Given the description of an element on the screen output the (x, y) to click on. 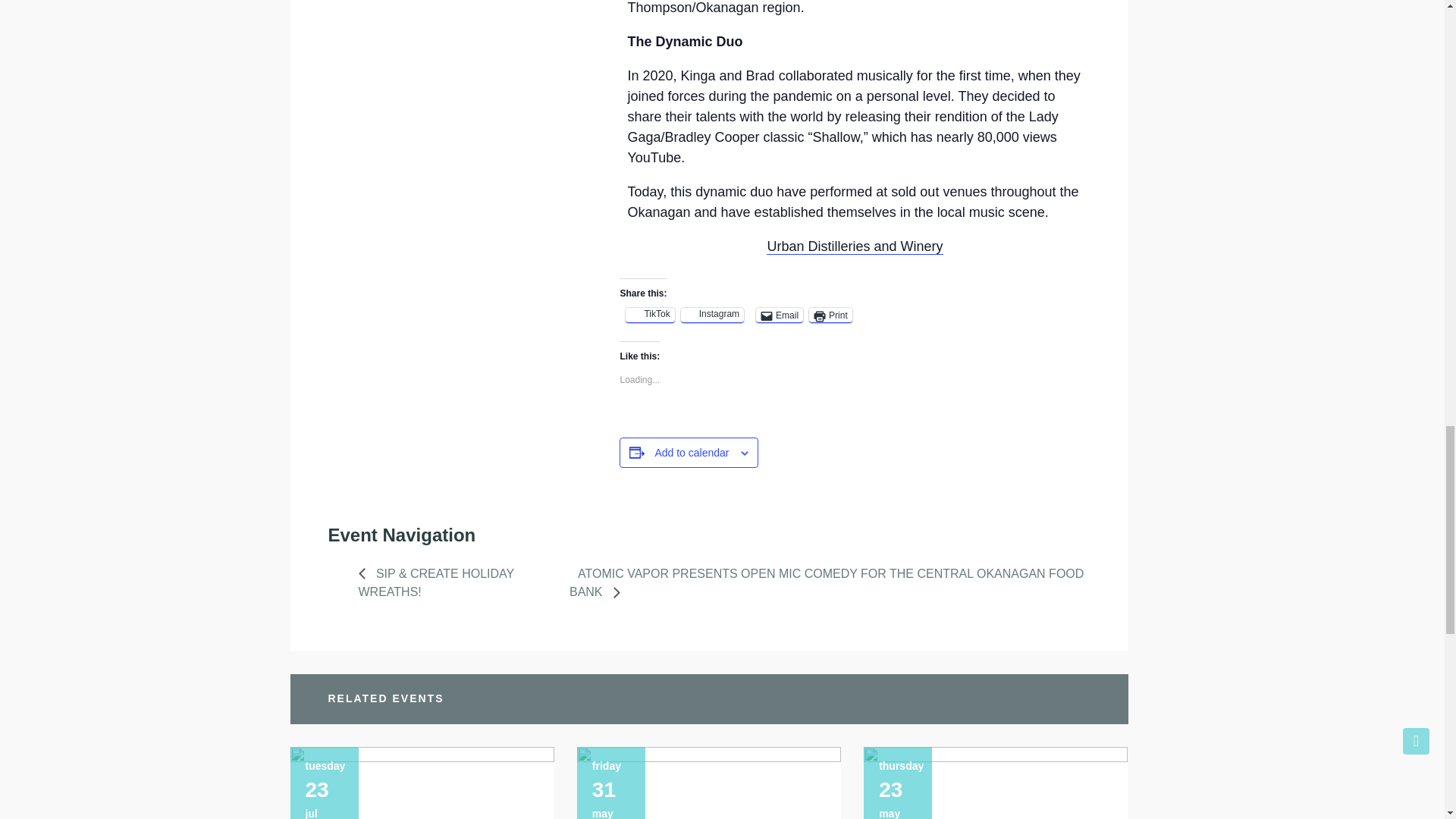
TikTok (650, 314)
Instagram (712, 314)
Print (830, 314)
Okanagan Angel Summit Finale 2024 (994, 782)
Urban Distilleries and Winery (854, 246)
Stu Goldberg Jazz Trio in West Kelowna (708, 782)
Click to share on Instagram (712, 314)
Click to share on TikTok (650, 314)
Email (779, 314)
Click to email a link to a friend (779, 314)
